Given the description of an element on the screen output the (x, y) to click on. 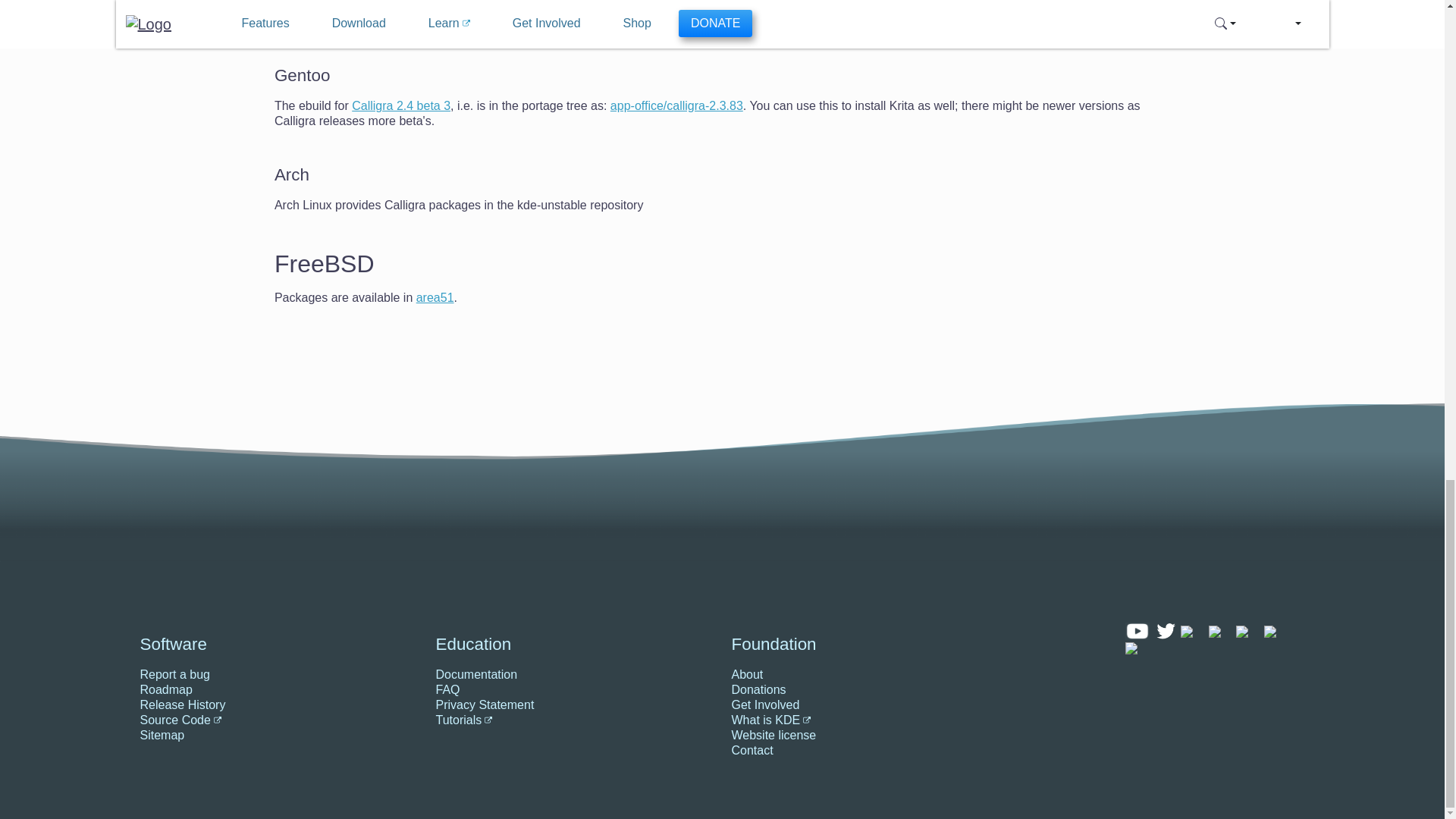
FAQ (574, 689)
Documentation (574, 674)
Calligra 2.4 beta 3 (400, 105)
Privacy Statement (574, 704)
Donations (918, 689)
Sitemap (277, 735)
Get Involved (918, 704)
Tutorials (574, 720)
Source Code (277, 720)
Contact (918, 750)
